Given the description of an element on the screen output the (x, y) to click on. 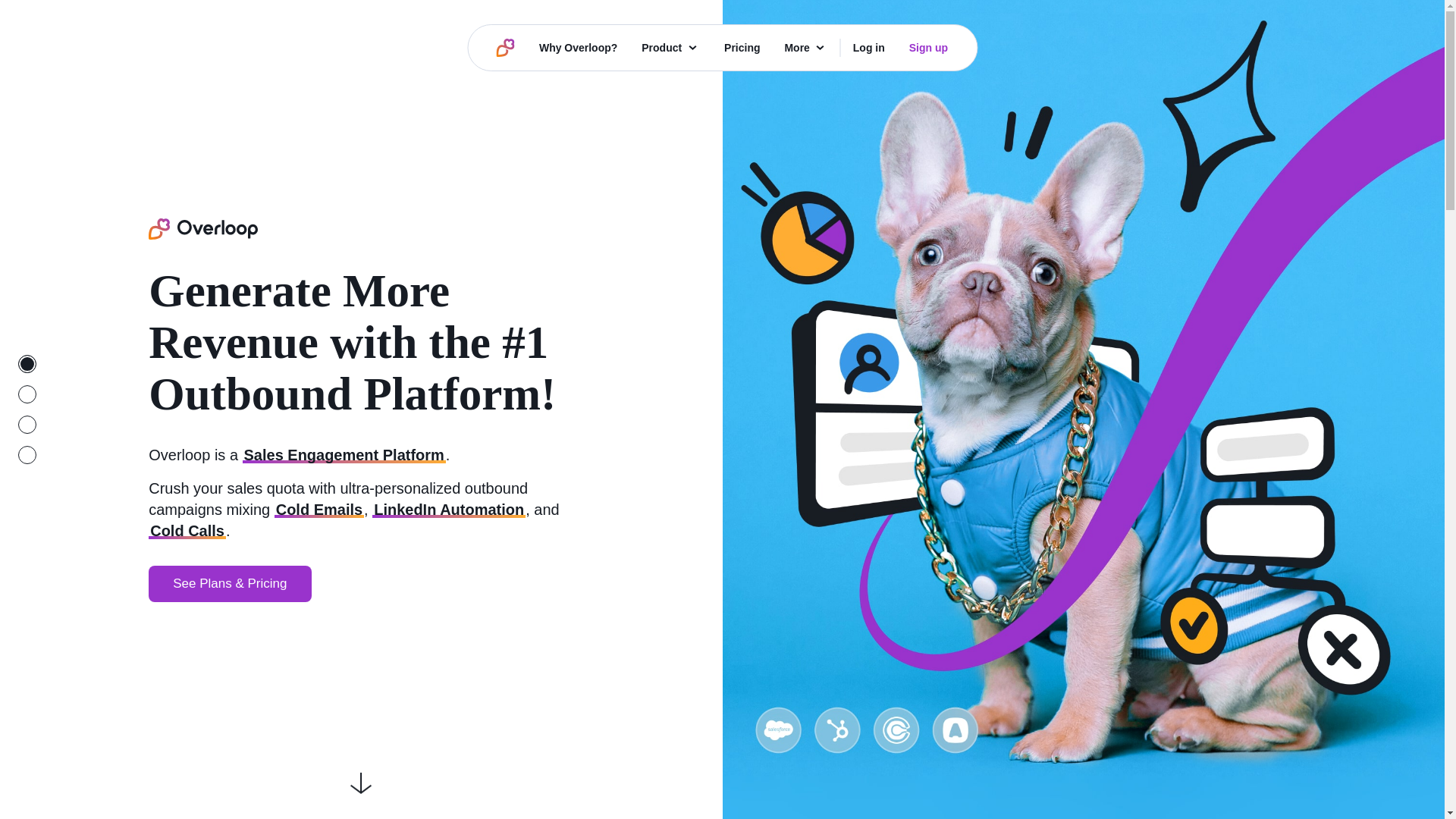
More (805, 47)
Log in (869, 47)
Overloop (202, 228)
Product (671, 47)
Pricing (741, 47)
Sign up (927, 47)
Why Overloop? (577, 47)
